Given the description of an element on the screen output the (x, y) to click on. 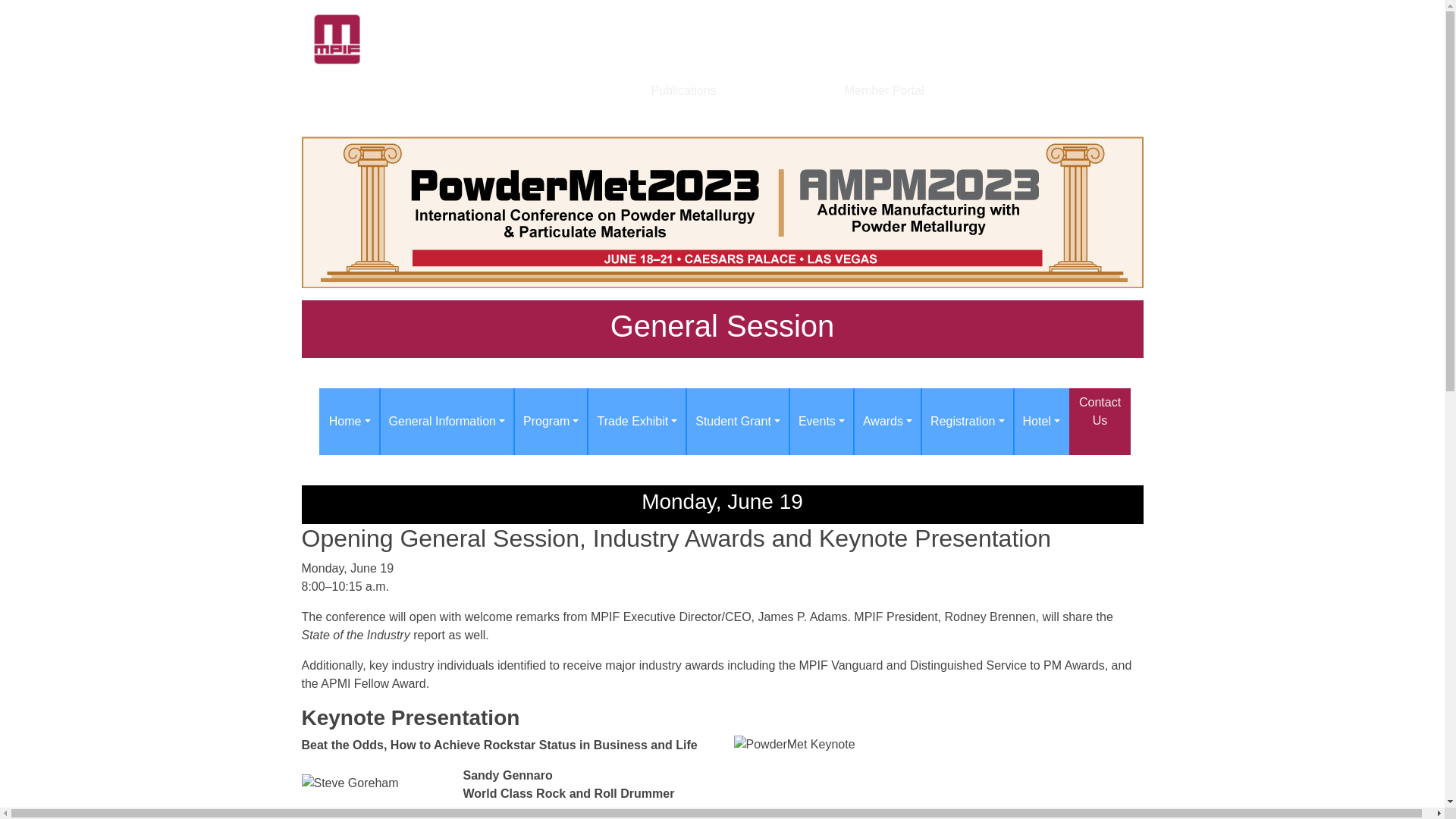
Intro to PM (354, 90)
Metal Powder Industries Federation (506, 36)
Steve Goreham (378, 796)
Login (1047, 24)
Register (1101, 24)
About (420, 90)
Login (1047, 24)
Register (1101, 24)
PowderMet Keynote (794, 744)
